Given the description of an element on the screen output the (x, y) to click on. 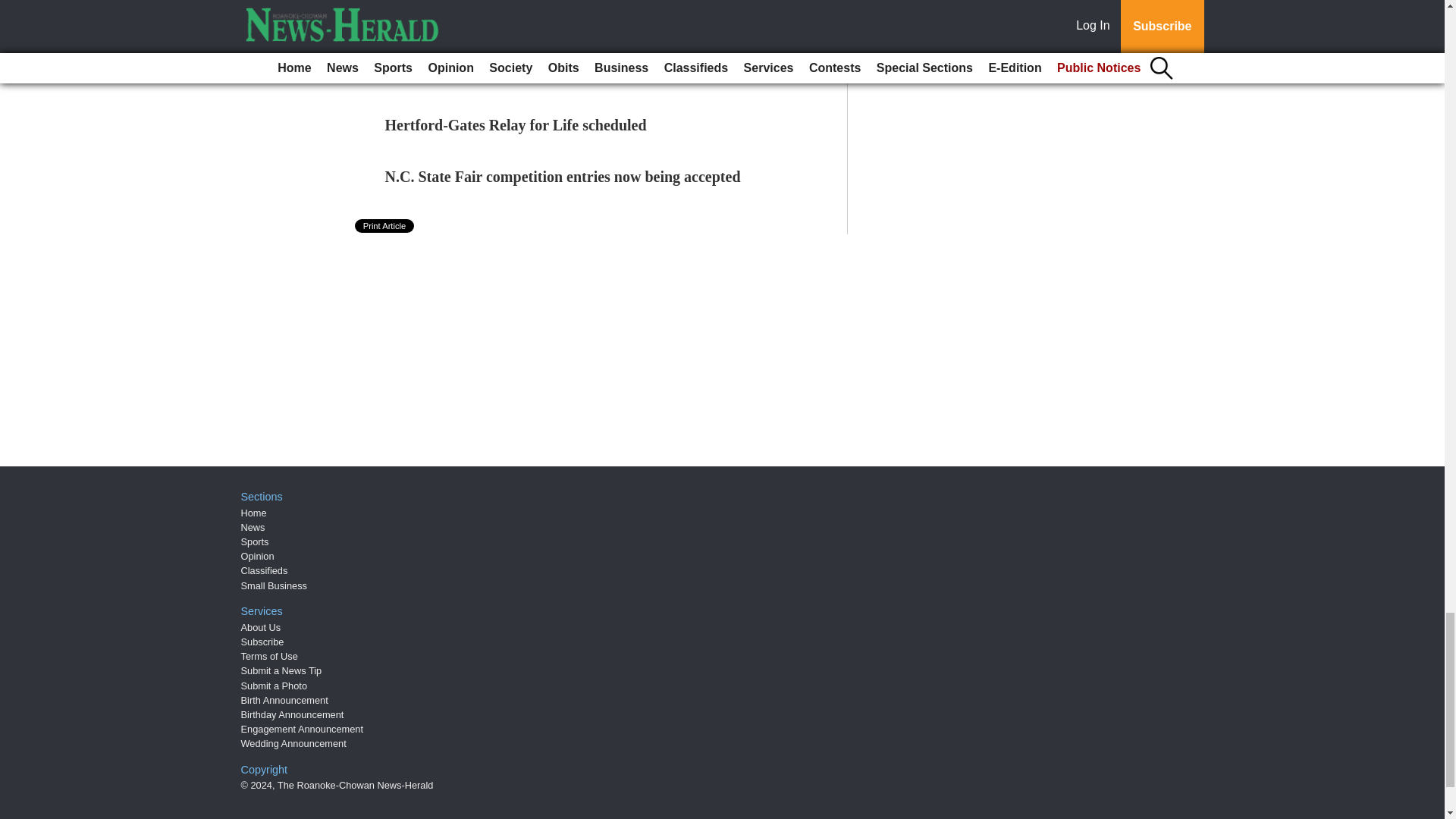
Teen girl held for murder (467, 73)
Hertford-Gates Relay for Life scheduled (515, 125)
Hertford-Gates Relay for Life scheduled (515, 125)
N.C. State Fair competition entries now being accepted (563, 176)
Rich Square bans dog tethering (487, 21)
Teen girl held for murder (467, 73)
N.C. State Fair competition entries now being accepted (563, 176)
Rich Square bans dog tethering (487, 21)
